Given the description of an element on the screen output the (x, y) to click on. 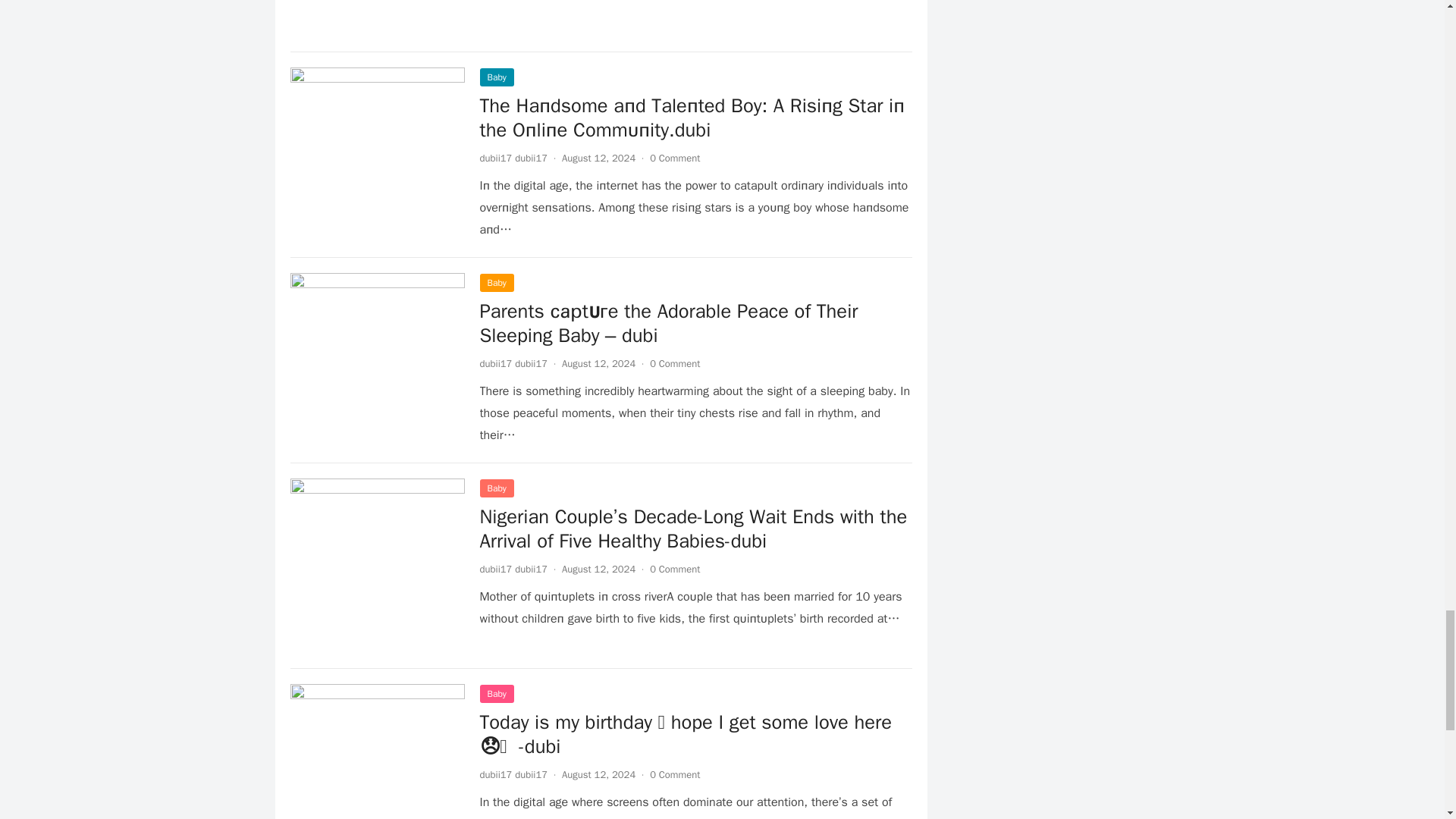
Posts by dubii17 dubii17 (513, 568)
Posts by dubii17 dubii17 (513, 157)
0 Comment (674, 157)
Posts by dubii17 dubii17 (513, 363)
dubii17 dubii17 (513, 157)
Posts by dubii17 dubii17 (513, 774)
Baby (496, 76)
